Given the description of an element on the screen output the (x, y) to click on. 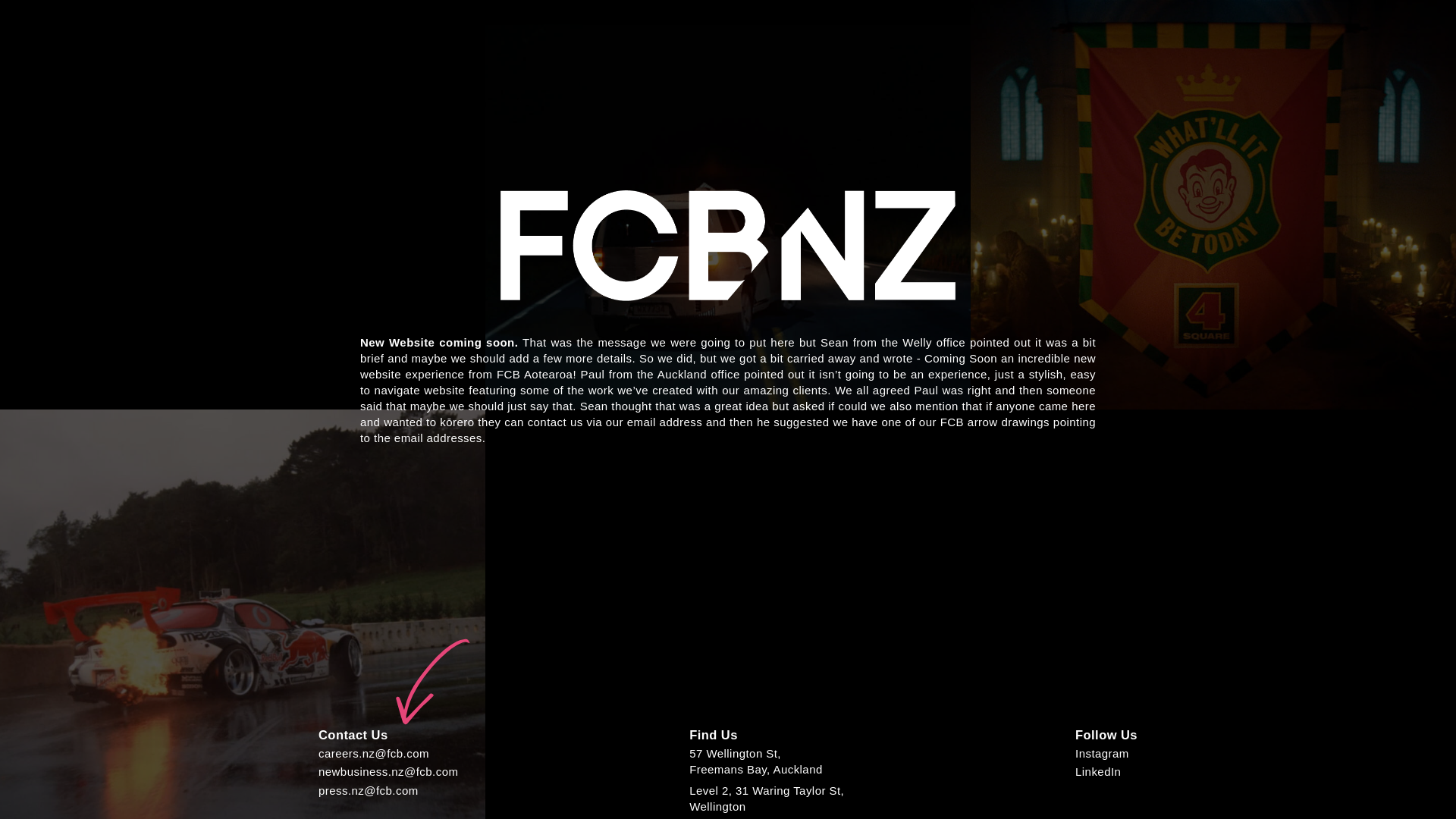
LinkedIn (766, 798)
Instagram (755, 761)
